Given the description of an element on the screen output the (x, y) to click on. 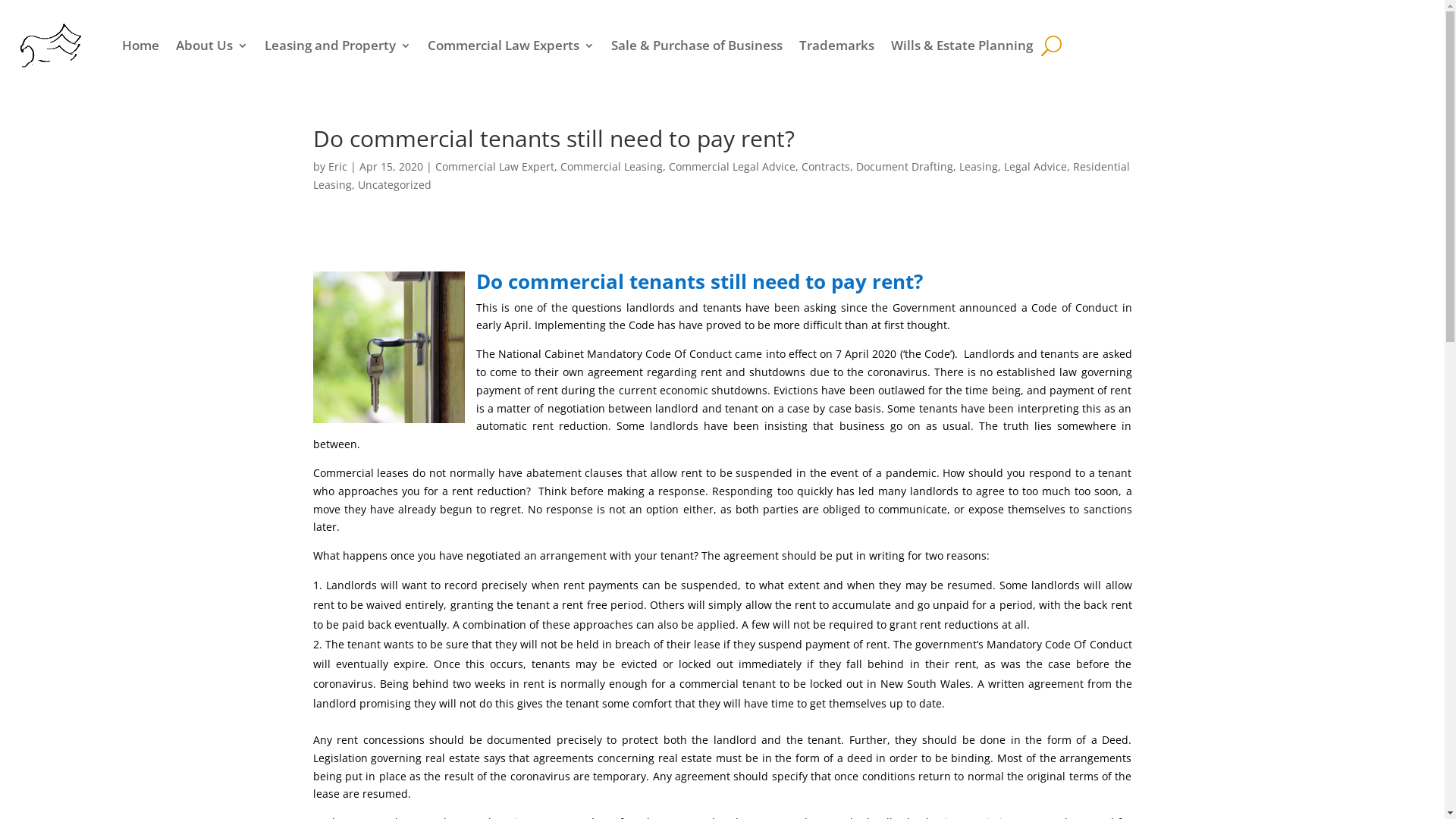
Leasing and Property Element type: text (337, 45)
Commercial Law Expert Element type: text (494, 166)
Home Element type: text (140, 45)
Sale & Purchase of Business Element type: text (696, 45)
Wills & Estate Planning Element type: text (961, 45)
About Us Element type: text (211, 45)
Leasing Element type: text (977, 166)
Contracts Element type: text (824, 166)
Commercial Law Experts Element type: text (510, 45)
Commercial Legal Advice Element type: text (731, 166)
Document Drafting Element type: text (903, 166)
Commercial Leasing Element type: text (610, 166)
Eric Element type: text (336, 166)
Trademarks Element type: text (836, 45)
Legal Advice Element type: text (1035, 166)
Uncategorized Element type: text (394, 184)
Residential Leasing Element type: text (720, 175)
